Given the description of an element on the screen output the (x, y) to click on. 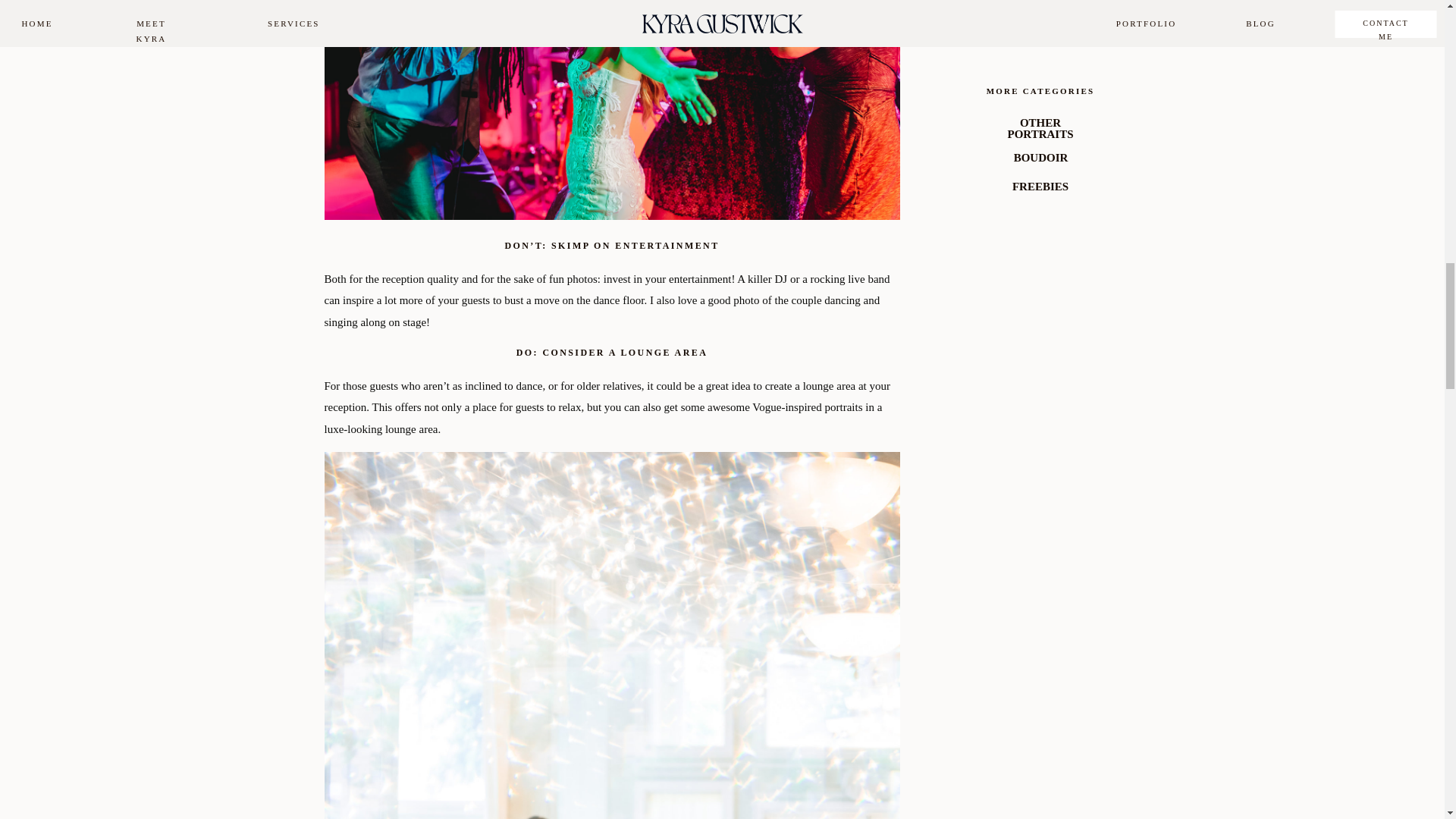
FREEBIES (1040, 187)
OTHER PORTRAITS (1040, 128)
BOUDOIR (1041, 158)
